Given the description of an element on the screen output the (x, y) to click on. 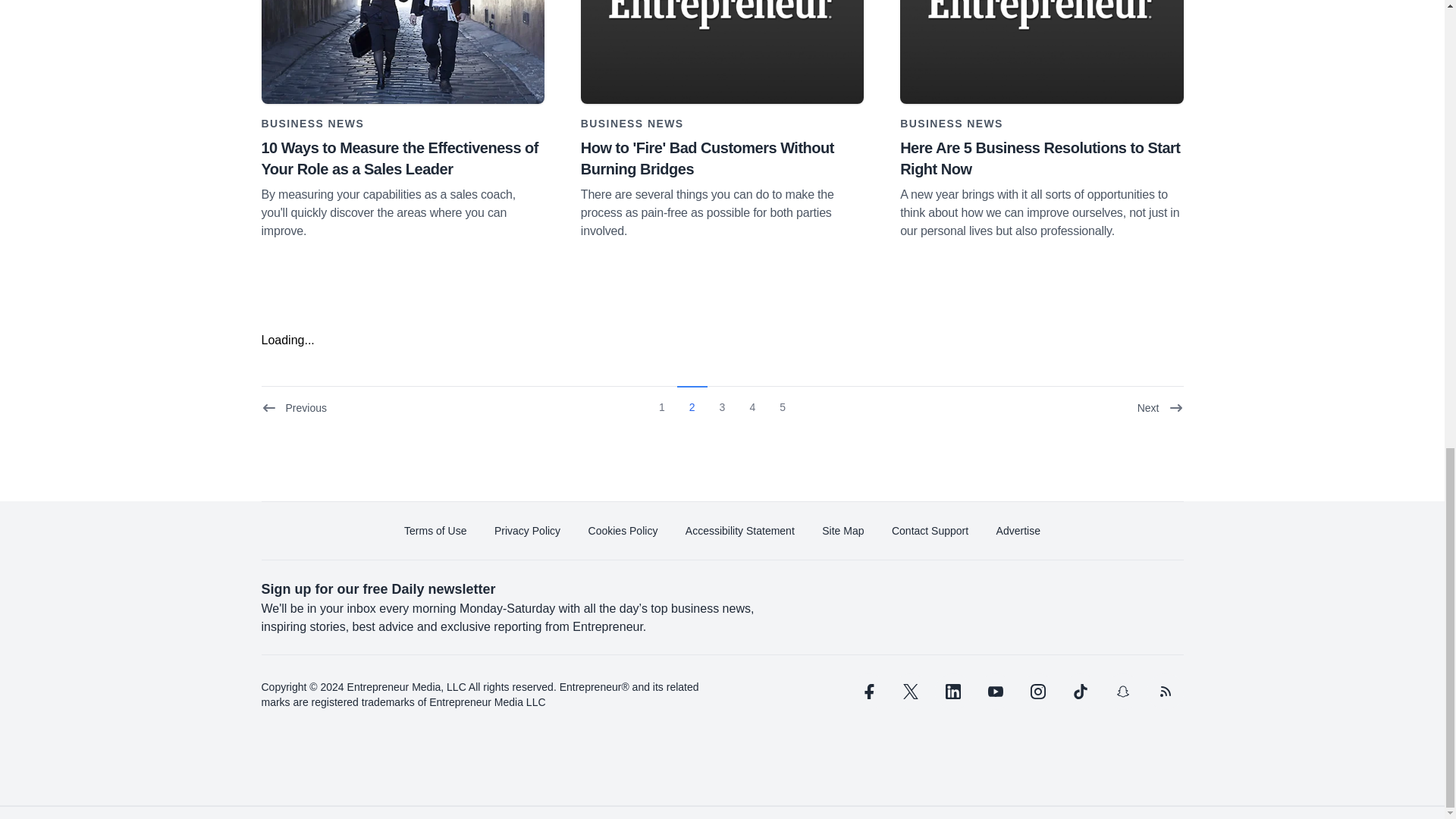
facebook (866, 691)
twitter (909, 691)
youtube (994, 691)
linkedin (952, 691)
instagram (1037, 691)
tiktok (1079, 691)
snapchat (1121, 691)
